Given the description of an element on the screen output the (x, y) to click on. 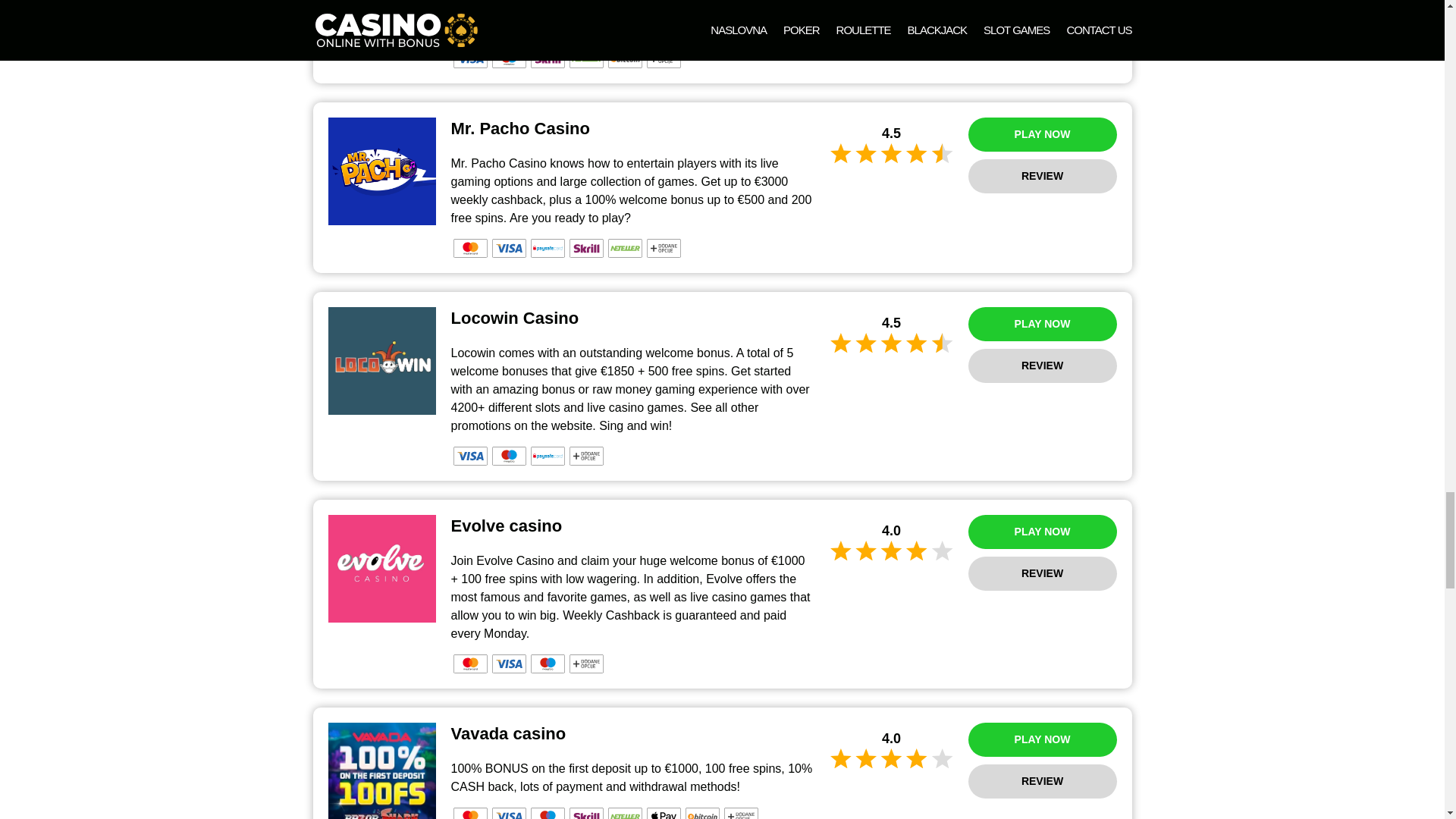
PLAY NOW (1042, 134)
REVIEW (1042, 175)
REVIEW (1042, 11)
